Given the description of an element on the screen output the (x, y) to click on. 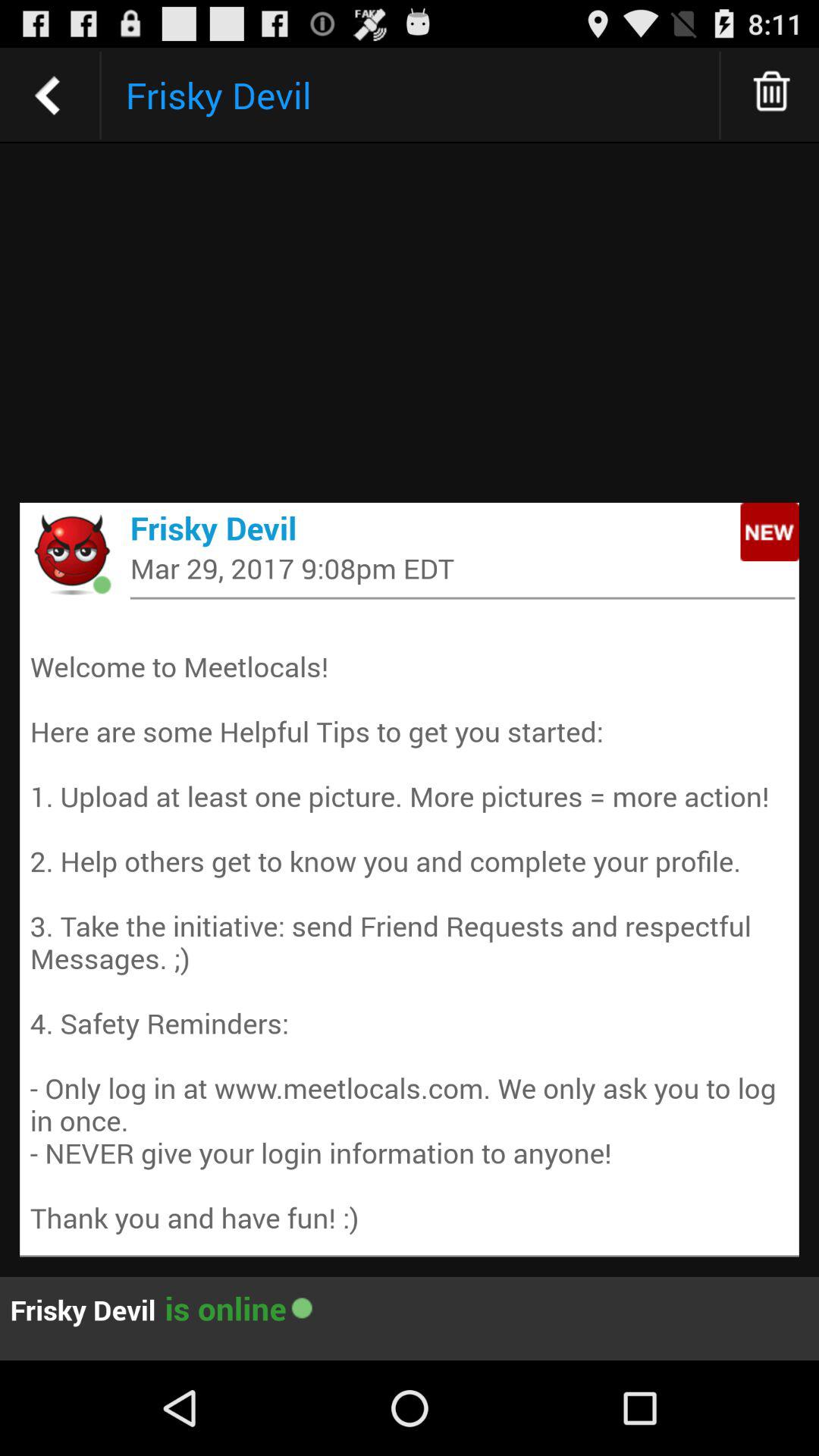
turn on the mar 29 2017 (462, 567)
